Given the description of an element on the screen output the (x, y) to click on. 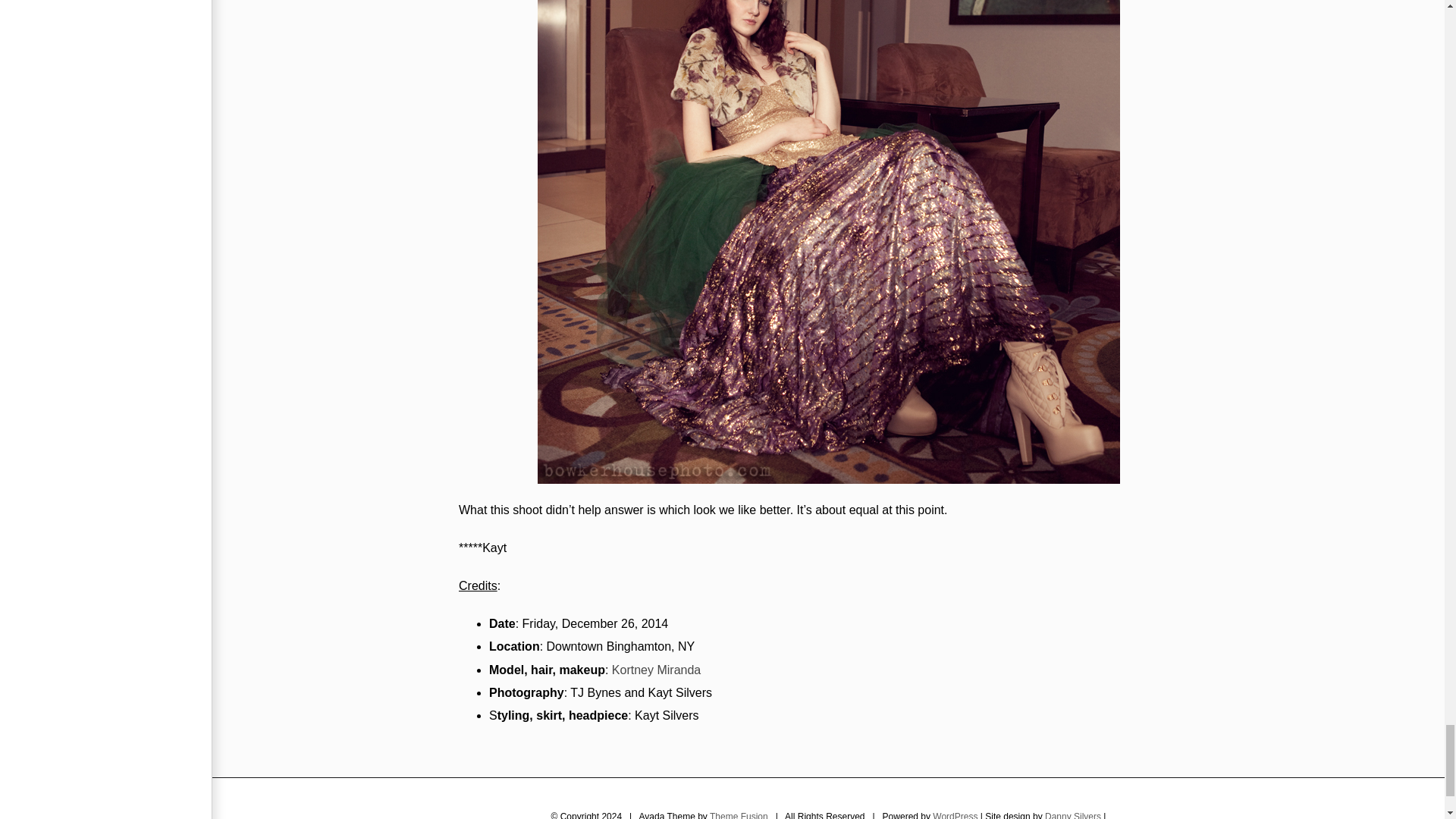
Danny Silvers (1072, 815)
Kortney Miranda (655, 669)
Theme Fusion (739, 815)
WordPress (954, 815)
